Given the description of an element on the screen output the (x, y) to click on. 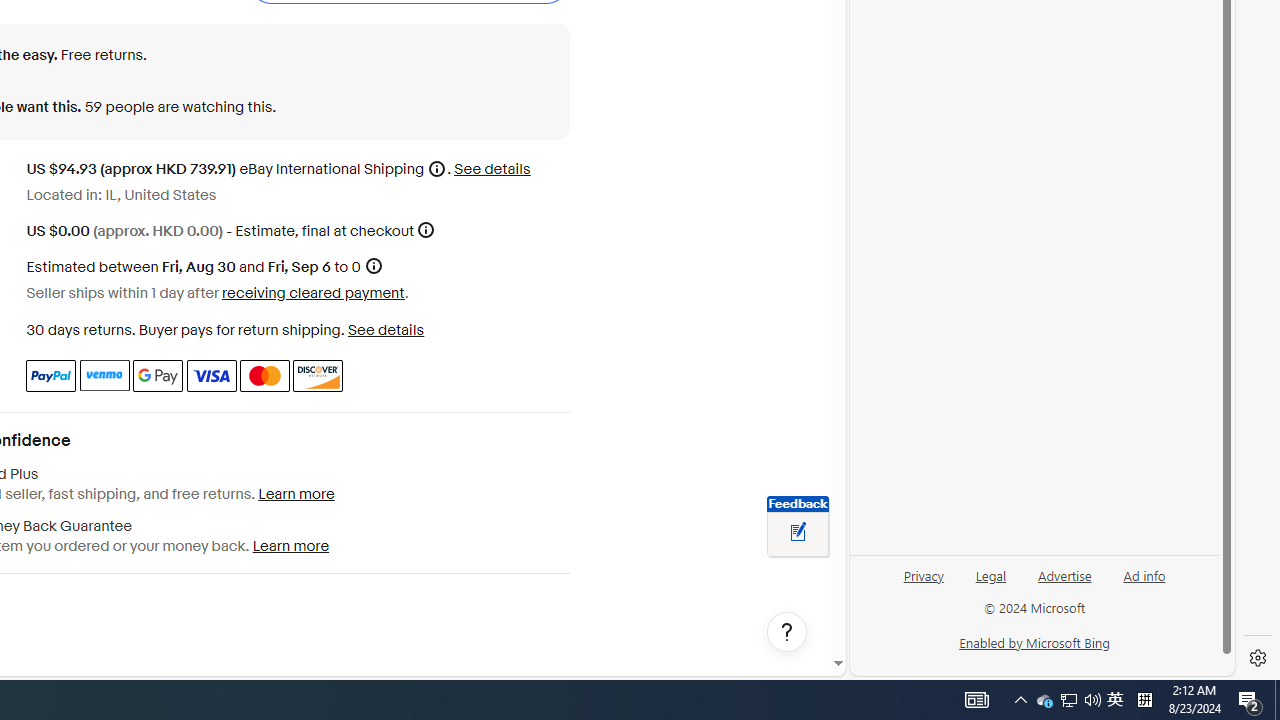
Help, opens dialogs (787, 632)
Visa (210, 375)
Master Card (264, 375)
Learn more - Top Rated Plus - opens in a new window or tab (296, 494)
See details for shipping (492, 169)
